Given the description of an element on the screen output the (x, y) to click on. 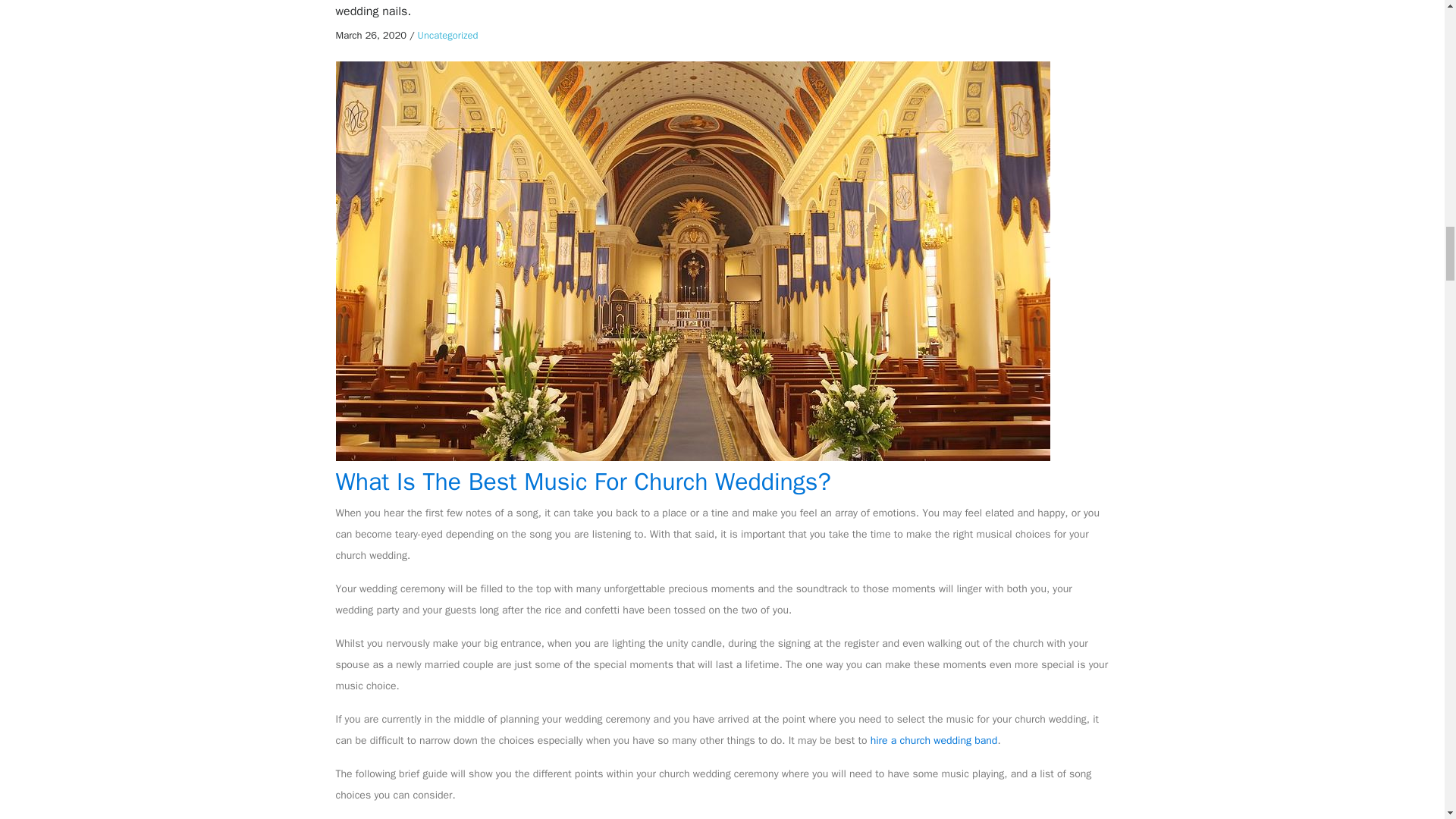
Uncategorized (448, 34)
Uncategorized (448, 34)
hire a church wedding band (933, 739)
What Is The Best Music For Church Weddings? (581, 481)
